Given the description of an element on the screen output the (x, y) to click on. 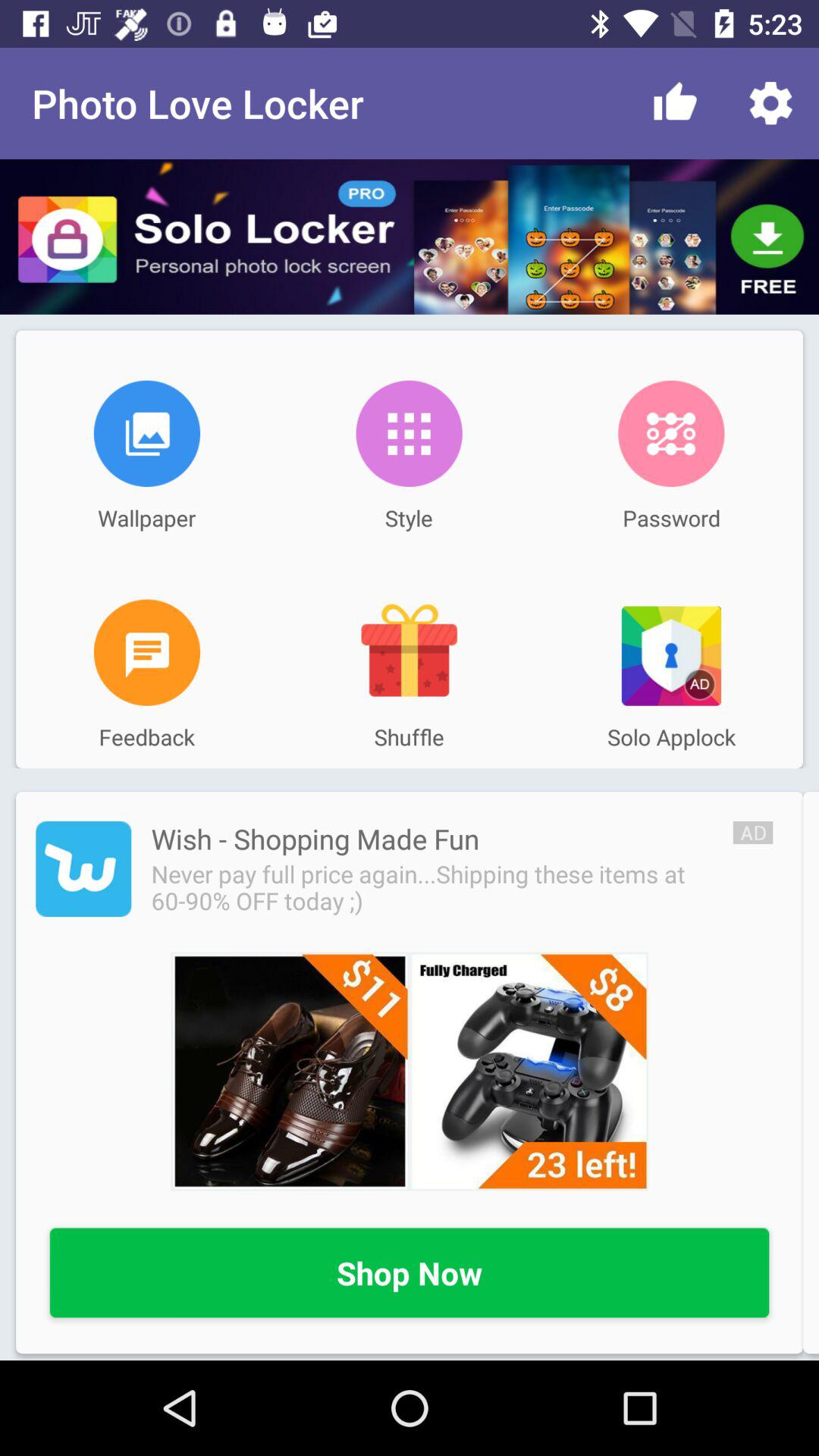
submit feedback (146, 652)
